Given the description of an element on the screen output the (x, y) to click on. 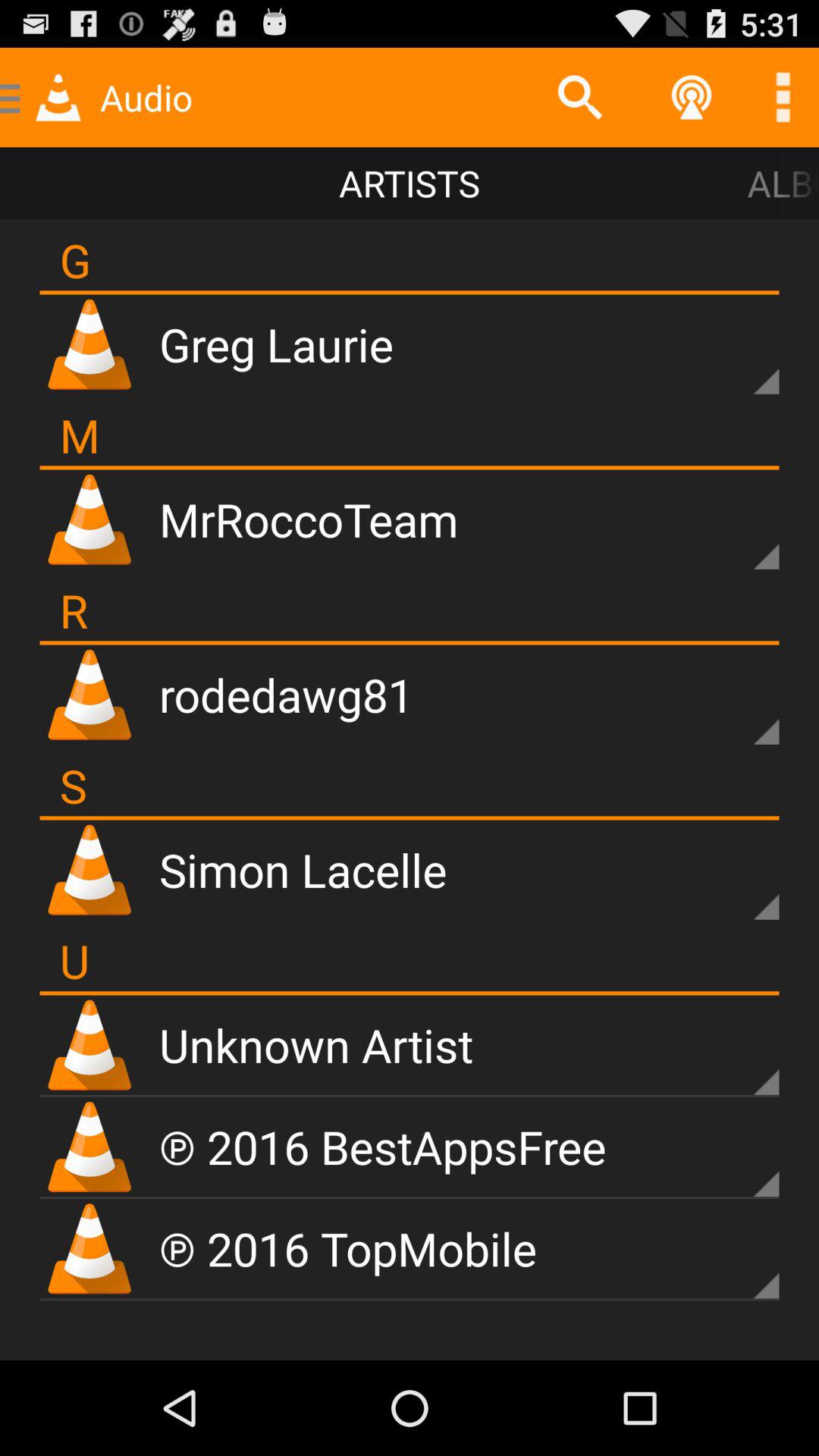
open r icon (73, 609)
